Given the description of an element on the screen output the (x, y) to click on. 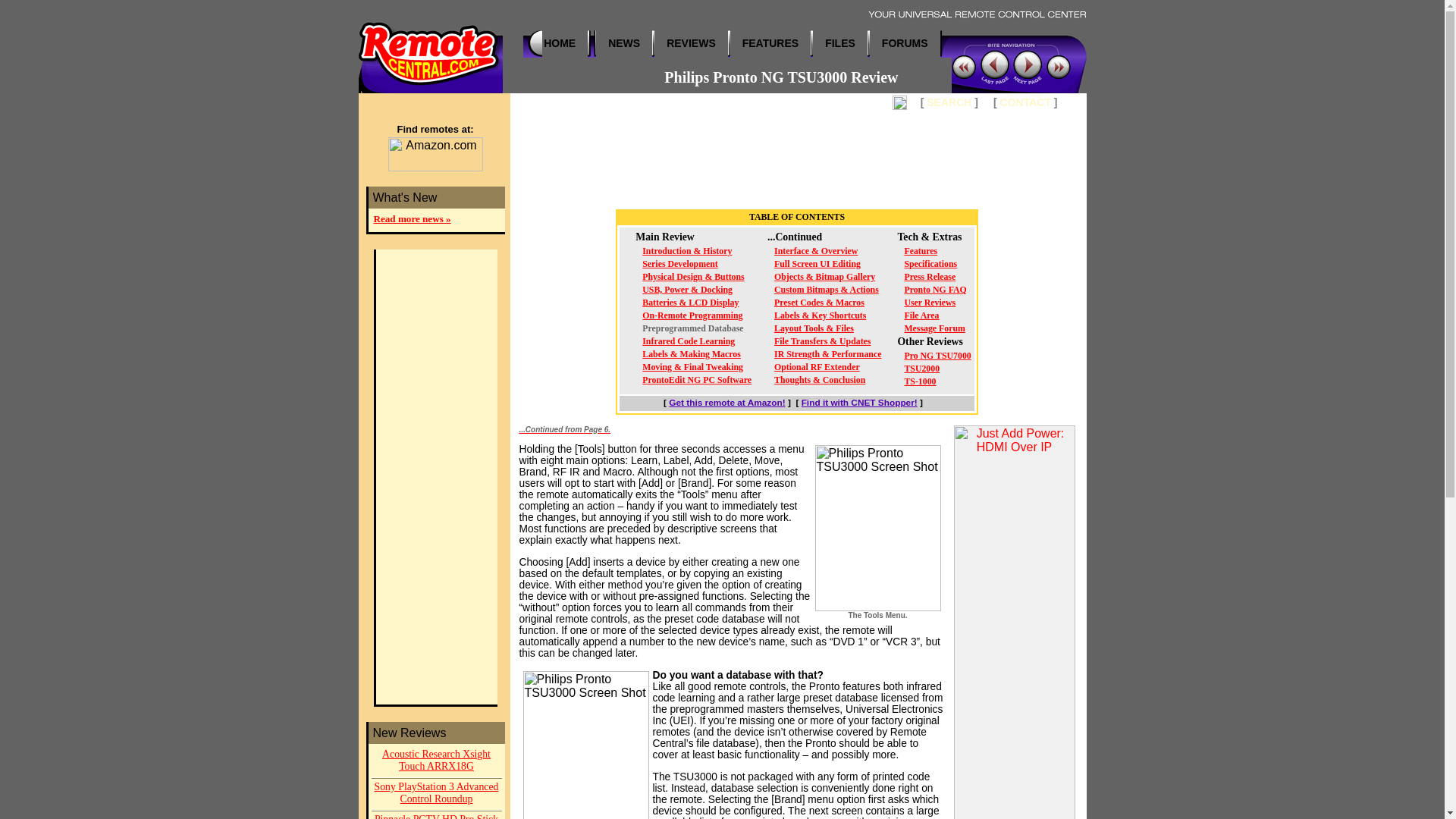
FILES (840, 42)
Find out what's new (624, 42)
ProntoEdit NG PC Software (696, 379)
Main site index (559, 42)
Series Development (679, 263)
Pinnacle PCTV HD Pro Stick HDTV Tuner (436, 815)
Find what you need (948, 102)
Download remote control files (840, 42)
Acoustic Research Xsight Touch ARRX18G (436, 761)
Press Release (929, 276)
